Given the description of an element on the screen output the (x, y) to click on. 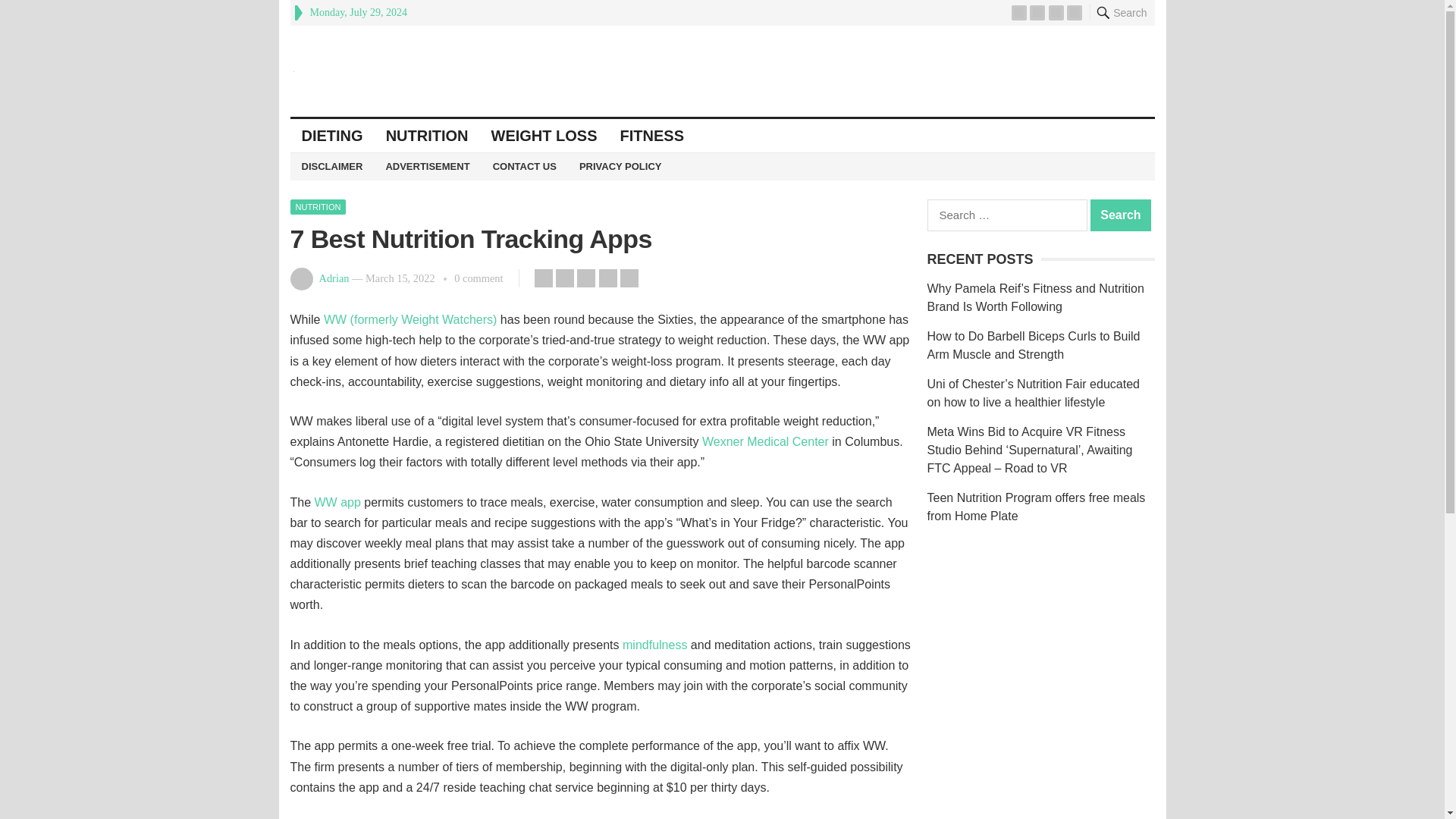
DIETING (331, 135)
NUTRITION (317, 206)
FITNESS (651, 135)
mindfulness (655, 644)
CONTACT US (524, 166)
ADVERTISEMENT (427, 166)
Wexner Medical Center (764, 440)
Search (1120, 214)
PRIVACY POLICY (619, 166)
Search (1120, 214)
DISCLAIMER (331, 166)
WEIGHT LOSS (544, 135)
0 comment (478, 277)
Adrian (333, 277)
WW app (337, 502)
